Given the description of an element on the screen output the (x, y) to click on. 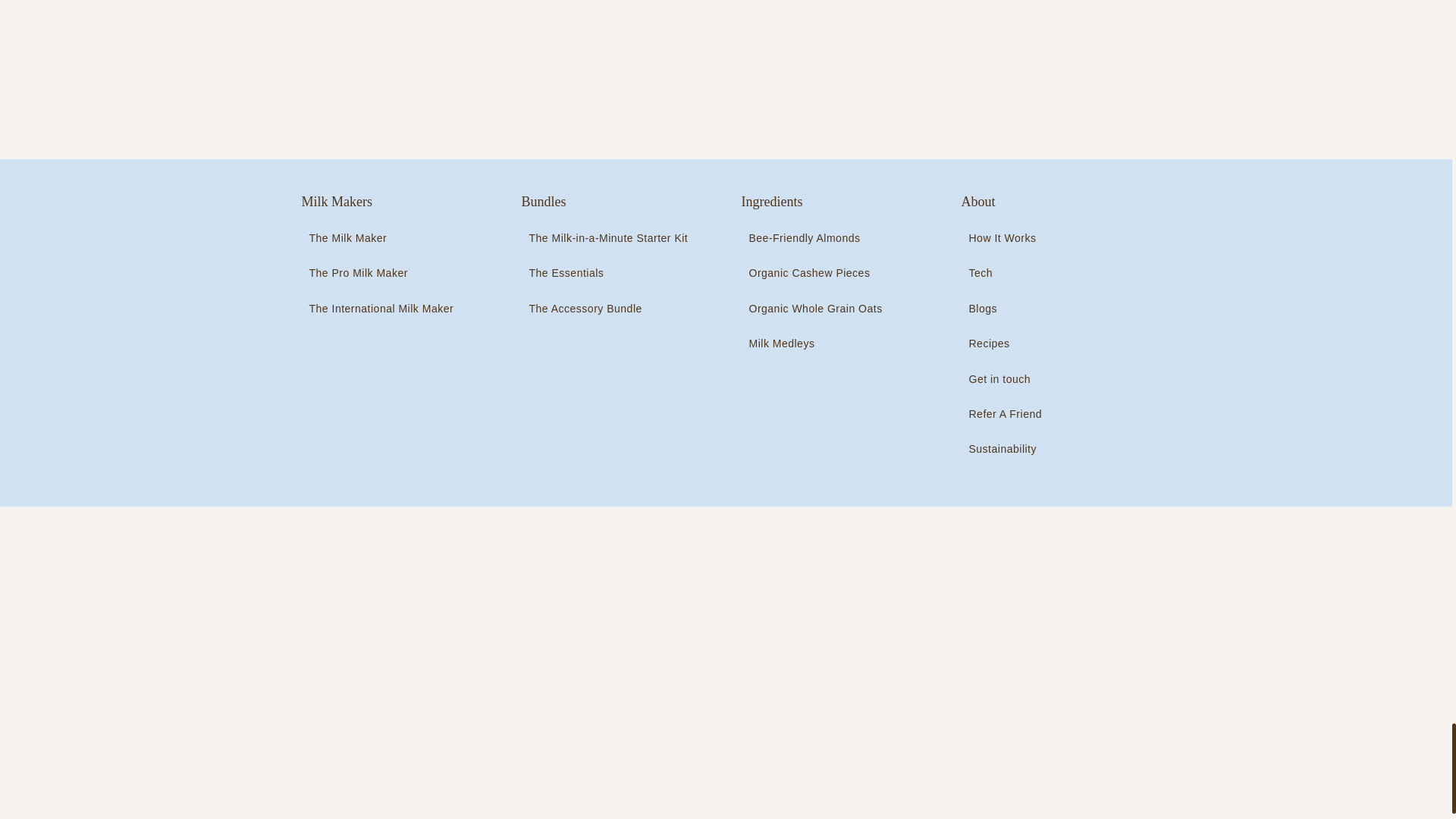
Blogs (1004, 308)
The Milk Maker (381, 238)
Organic Cashew Pieces (815, 272)
The Milk-in-a-Minute Starter Kit (608, 238)
Organic Whole Grain Oats (815, 308)
The International Milk Maker (381, 308)
Sustainability (1004, 448)
Recipes (1004, 343)
The Pro Milk Maker (381, 272)
How It Works (1004, 238)
The Essentials (608, 272)
The Accessory Bundle (608, 308)
Tech  (1004, 272)
Bee-Friendly Almonds (815, 238)
Refer A Friend (1004, 413)
